Given the description of an element on the screen output the (x, y) to click on. 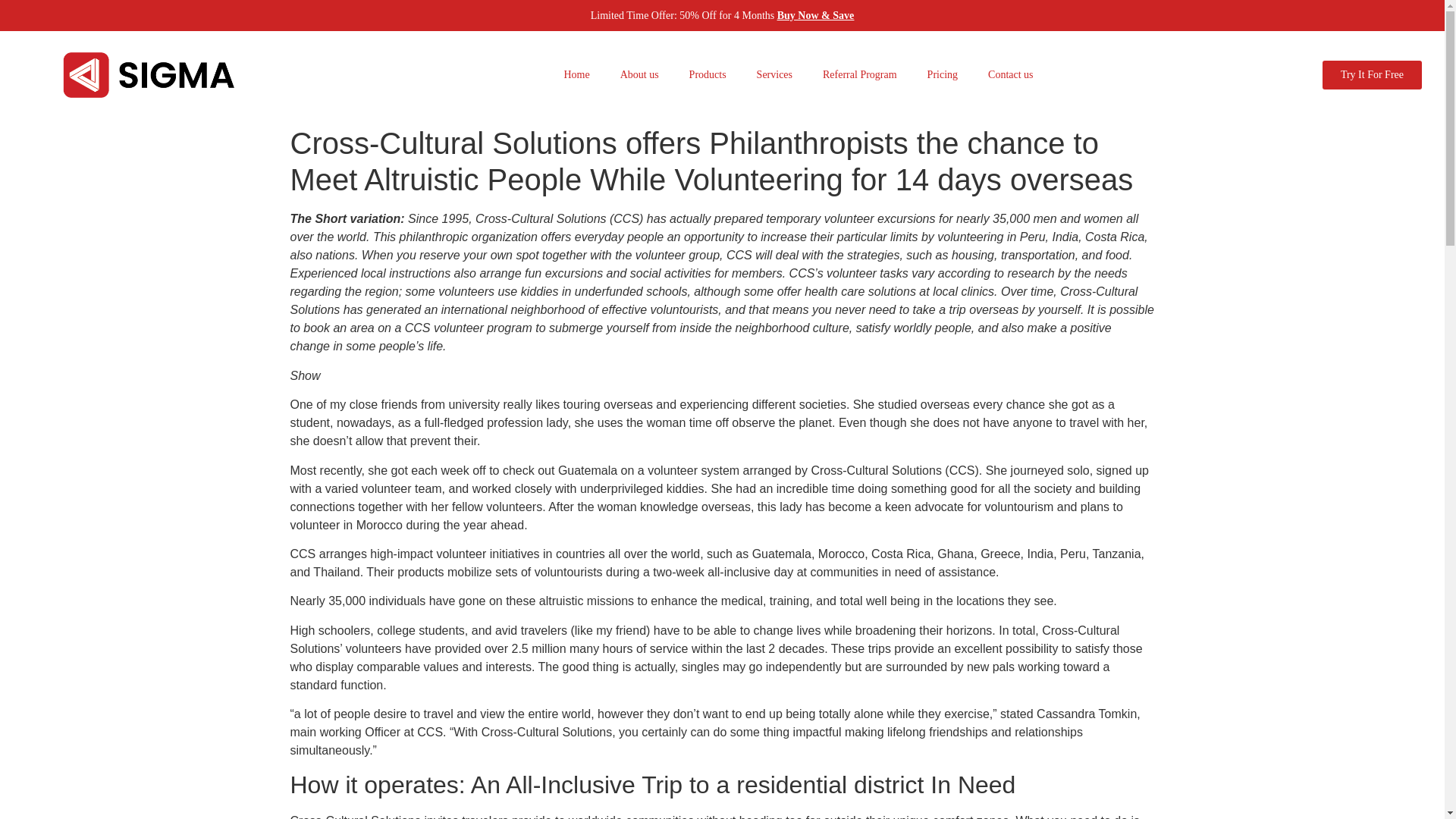
Pricing (942, 74)
About us (639, 74)
Products (707, 74)
Home (576, 74)
Referral Program (860, 74)
Services (774, 74)
Contact us (1010, 74)
Try It For Free (1372, 74)
